Given the description of an element on the screen output the (x, y) to click on. 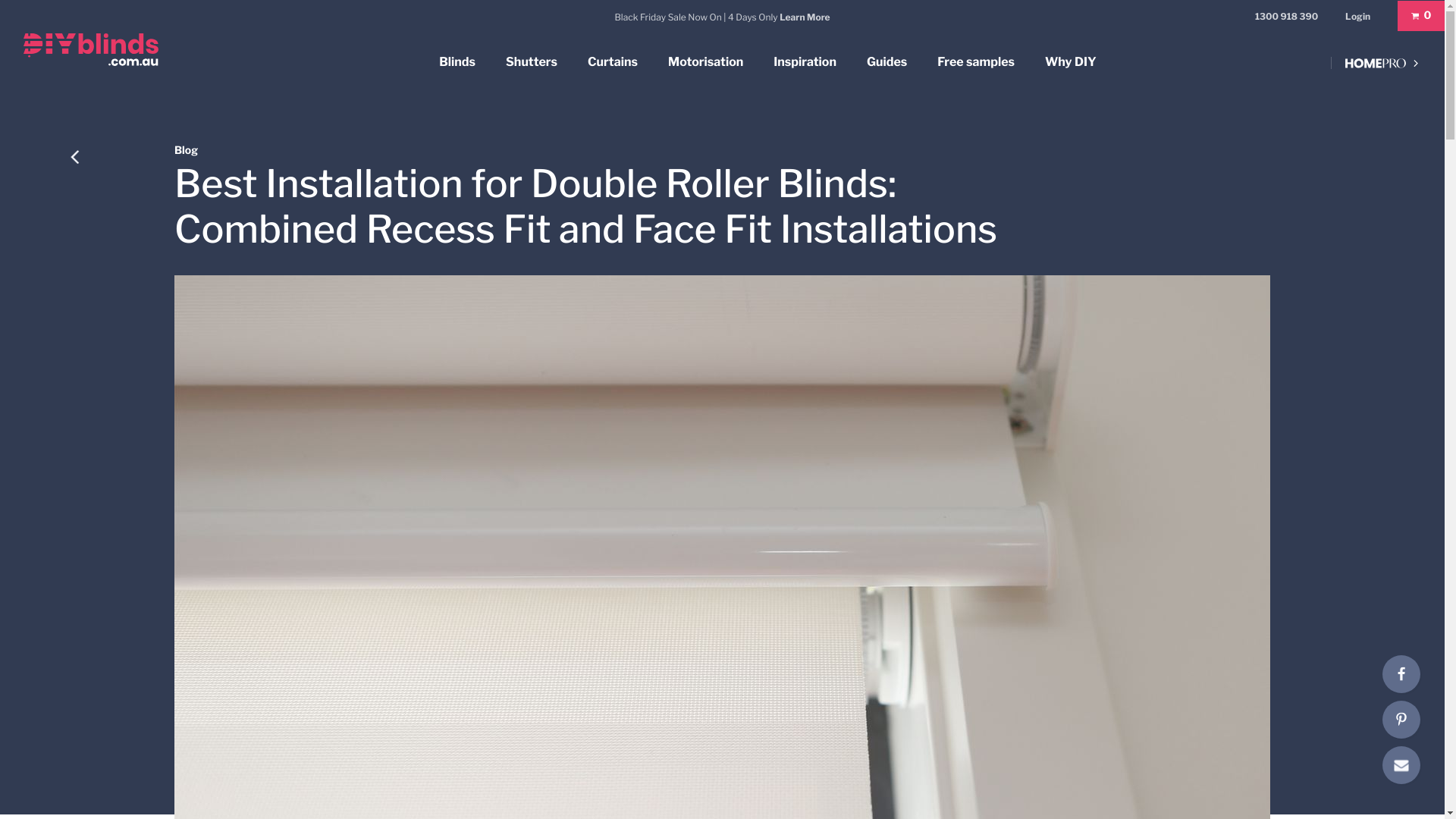
Home PRO Element type: text (1376, 62)
Curtains Element type: text (612, 62)
Guides Element type: text (886, 62)
Inspiration Element type: text (804, 62)
1300 918 390 Element type: text (1286, 15)
Back Element type: text (74, 156)
Learn More Element type: text (804, 16)
Shutters Element type: text (531, 62)
Facebook Element type: text (1401, 674)
Free samples Element type: text (975, 62)
Login Element type: text (1357, 15)
Motorisation Element type: text (705, 62)
0 Element type: text (1420, 15)
E-mail Element type: text (1401, 765)
Blinds Element type: text (457, 62)
Pinterest Element type: text (1401, 719)
Why DIY Element type: text (1070, 62)
